Given the description of an element on the screen output the (x, y) to click on. 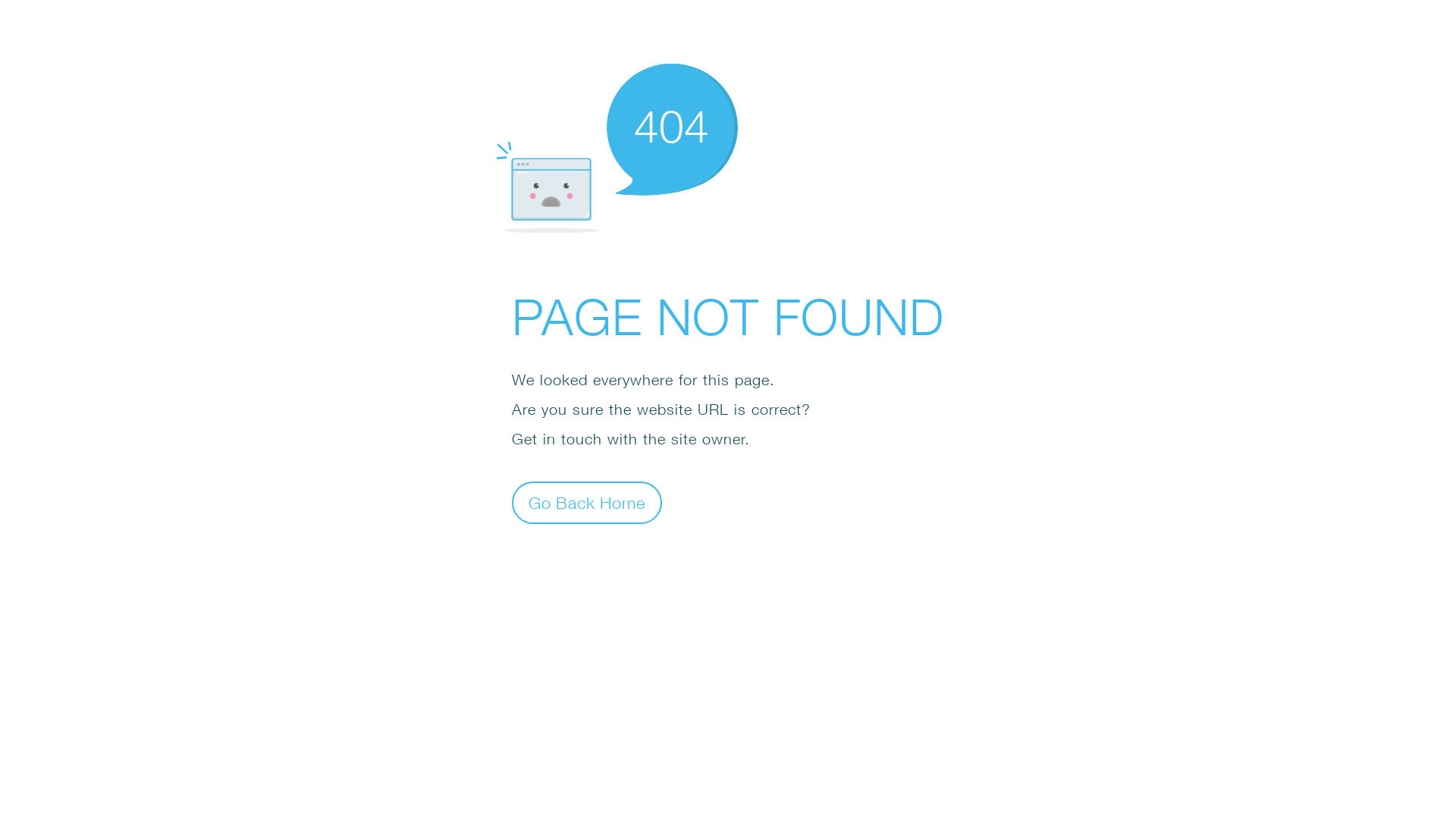
Go Back Home Element type: text (586, 502)
